Given the description of an element on the screen output the (x, y) to click on. 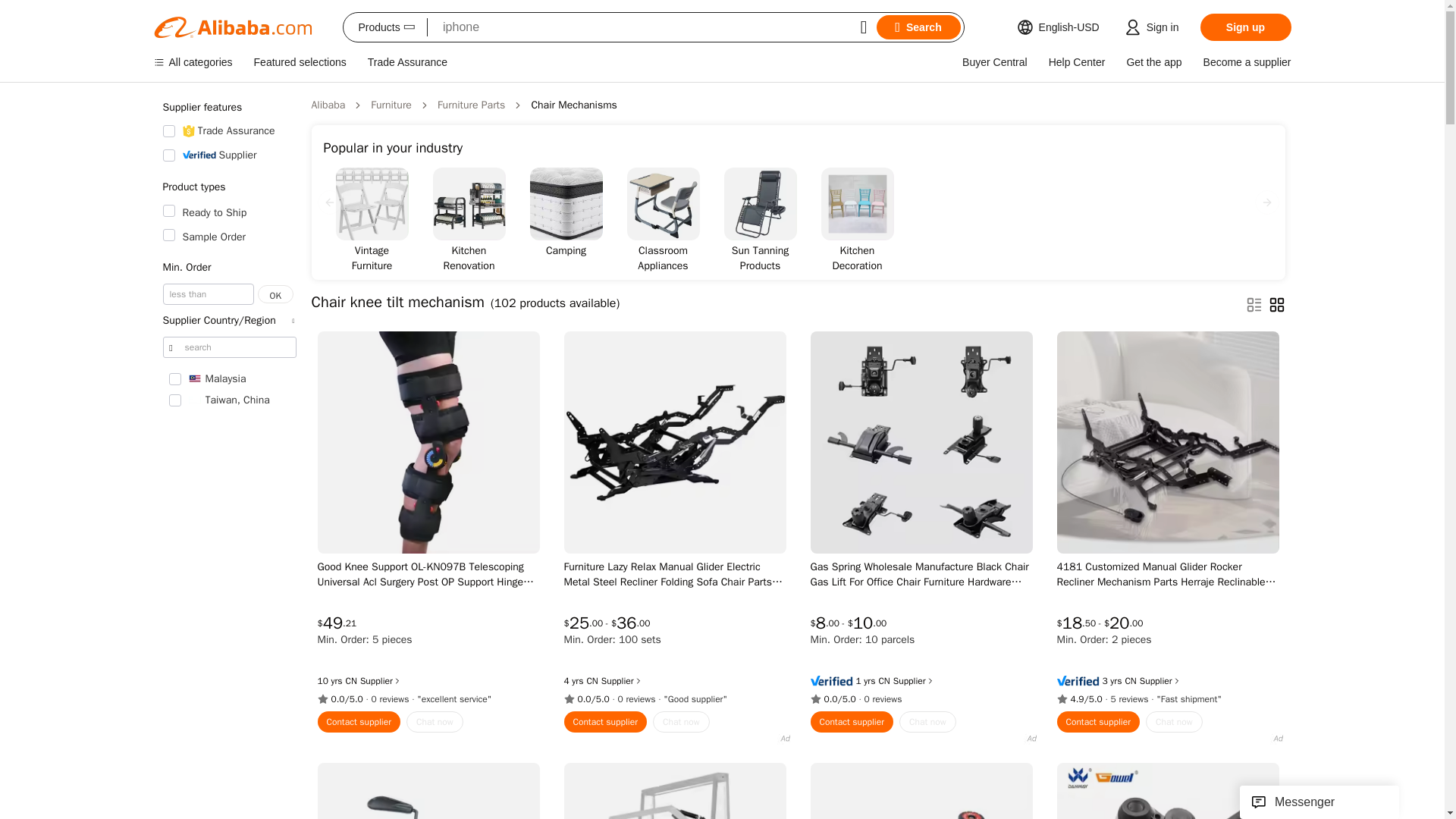
Min. Order (228, 267)
Product types (228, 187)
Supplier features (228, 107)
